Given the description of an element on the screen output the (x, y) to click on. 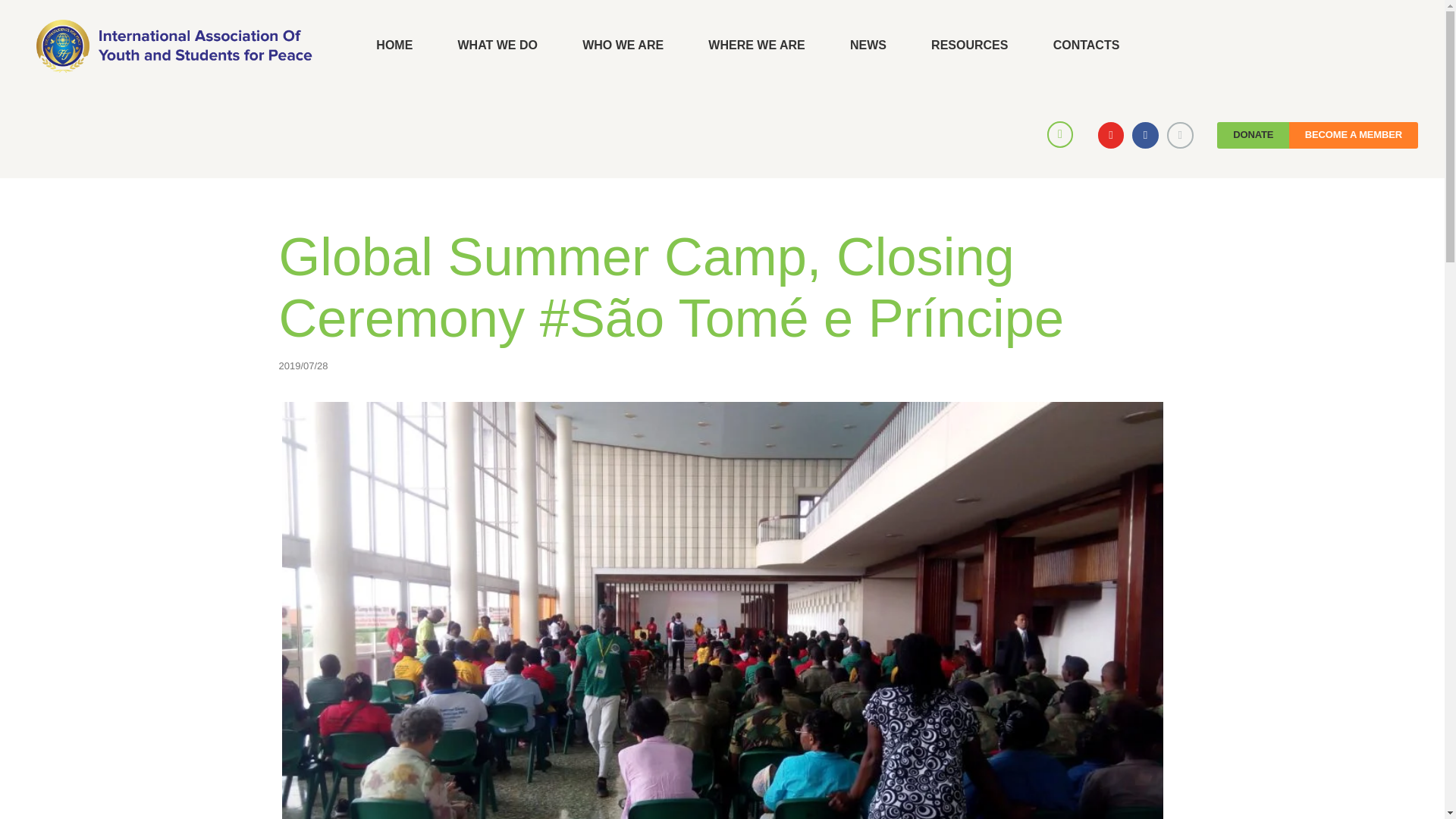
NEWS (867, 45)
WHERE WE ARE (756, 45)
CONTACTS (1085, 45)
WHAT WE DO (497, 45)
Open search (1061, 133)
DONATE (1252, 135)
RESOURCES (969, 45)
WHO WE ARE (622, 45)
BECOME A MEMBER (1353, 135)
HOME (394, 45)
